Given the description of an element on the screen output the (x, y) to click on. 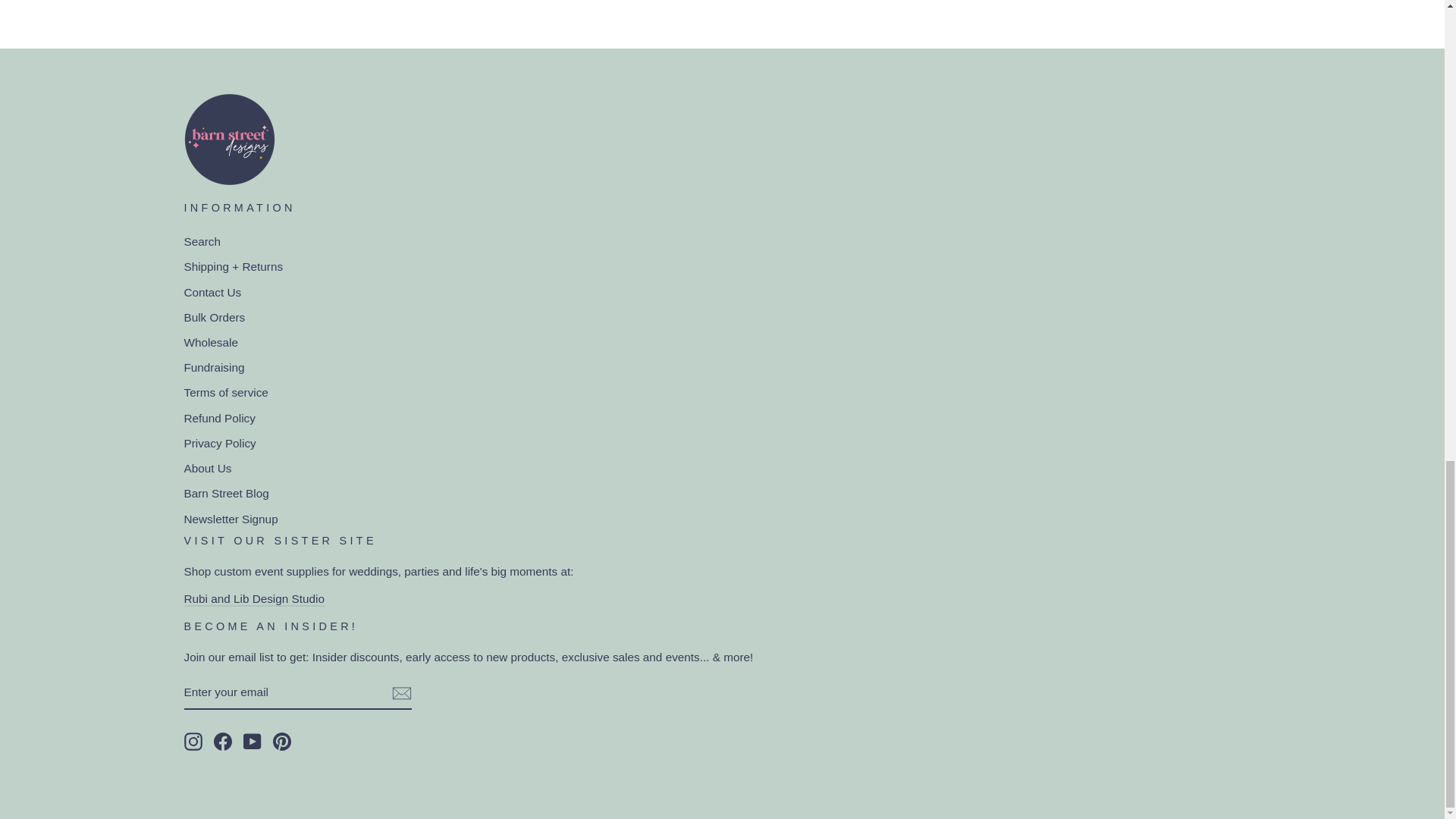
Barn Street Designs on Facebook (222, 741)
Barn Street Designs on Instagram (192, 741)
Barn Street Designs on YouTube (251, 741)
Barn Street Designs on Pinterest (282, 741)
